Given the description of an element on the screen output the (x, y) to click on. 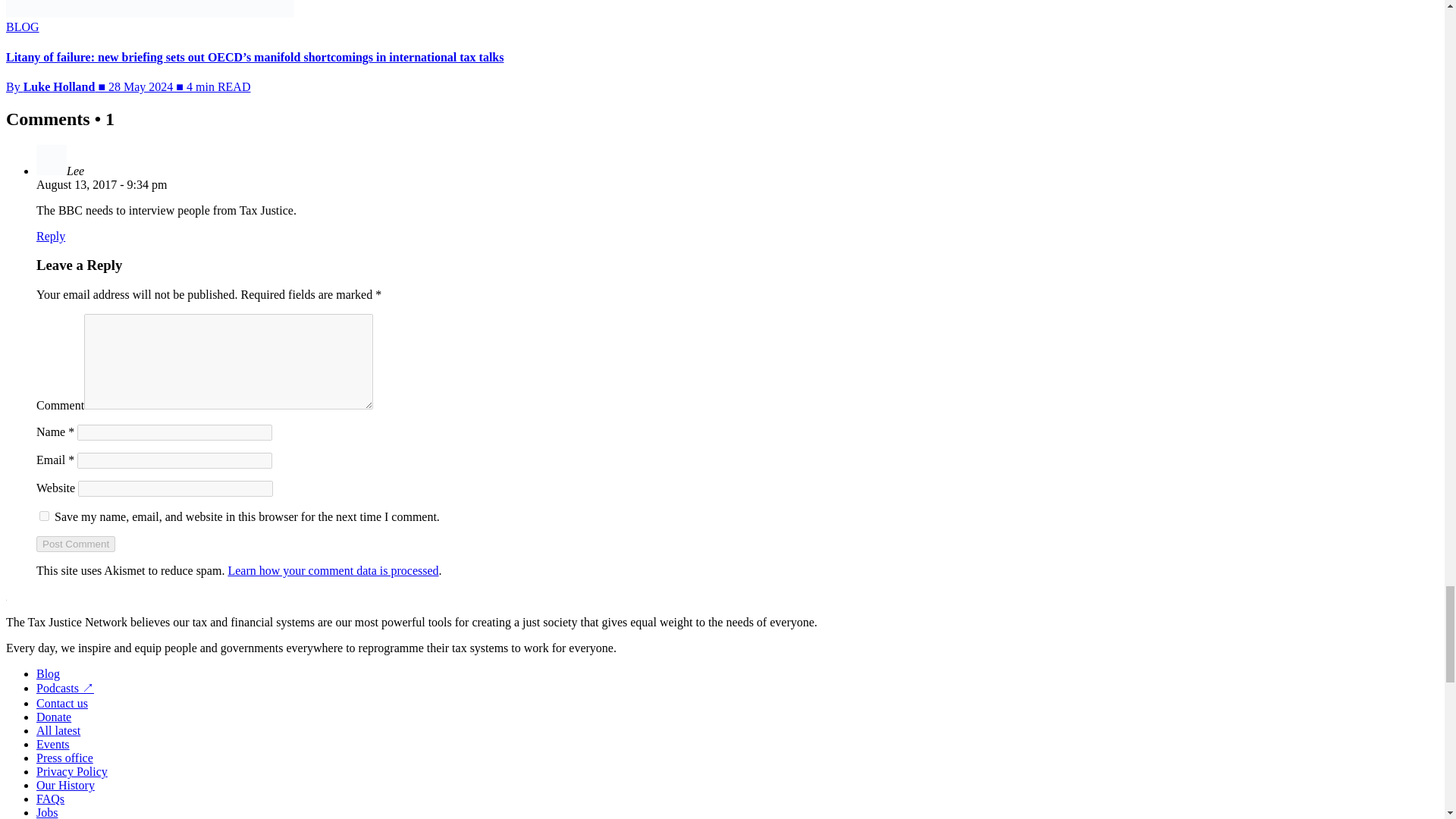
yes (44, 515)
Post Comment (75, 544)
